Given the description of an element on the screen output the (x, y) to click on. 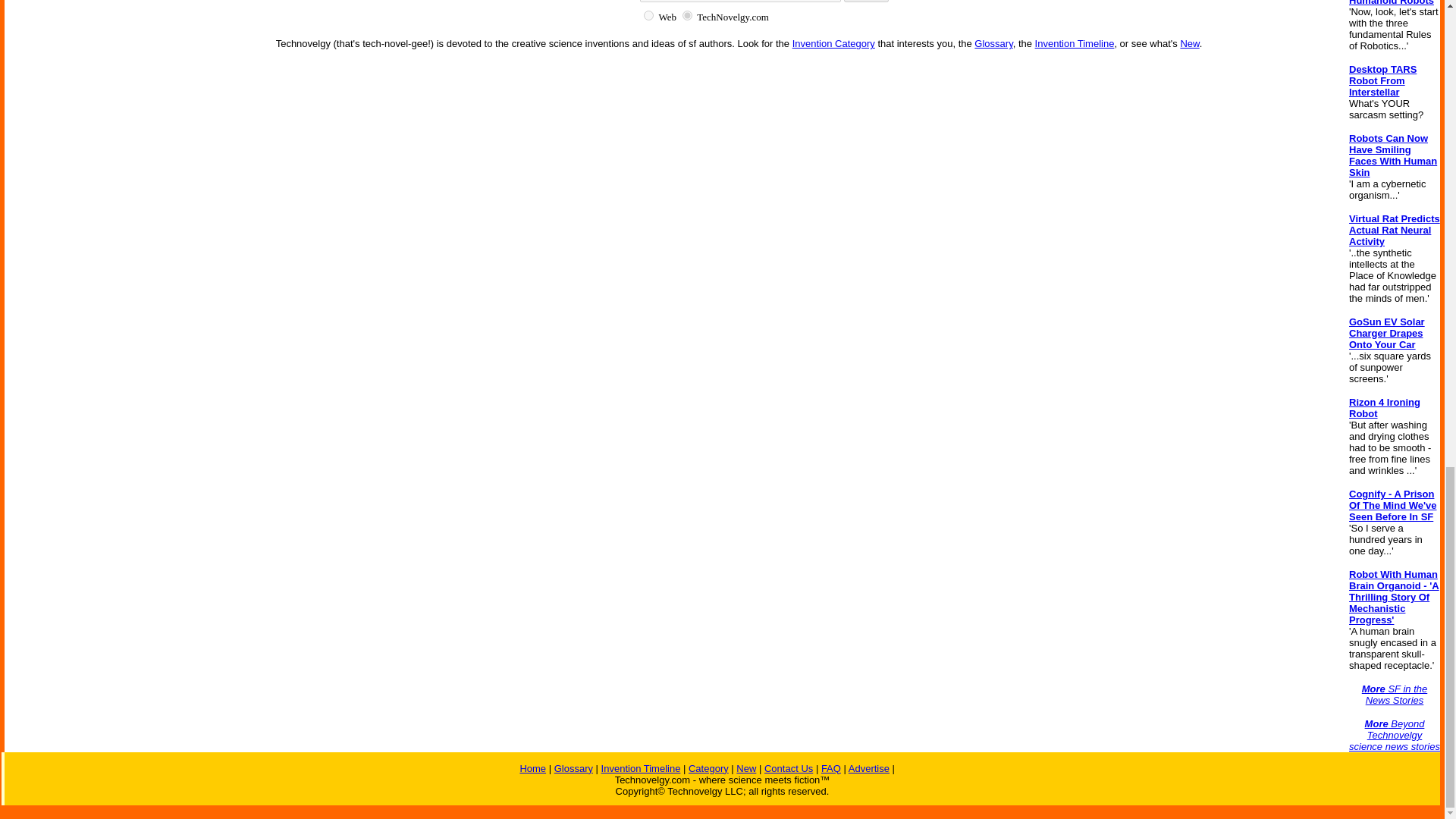
Search (866, 1)
TechNovelgy.com (687, 15)
